Given the description of an element on the screen output the (x, y) to click on. 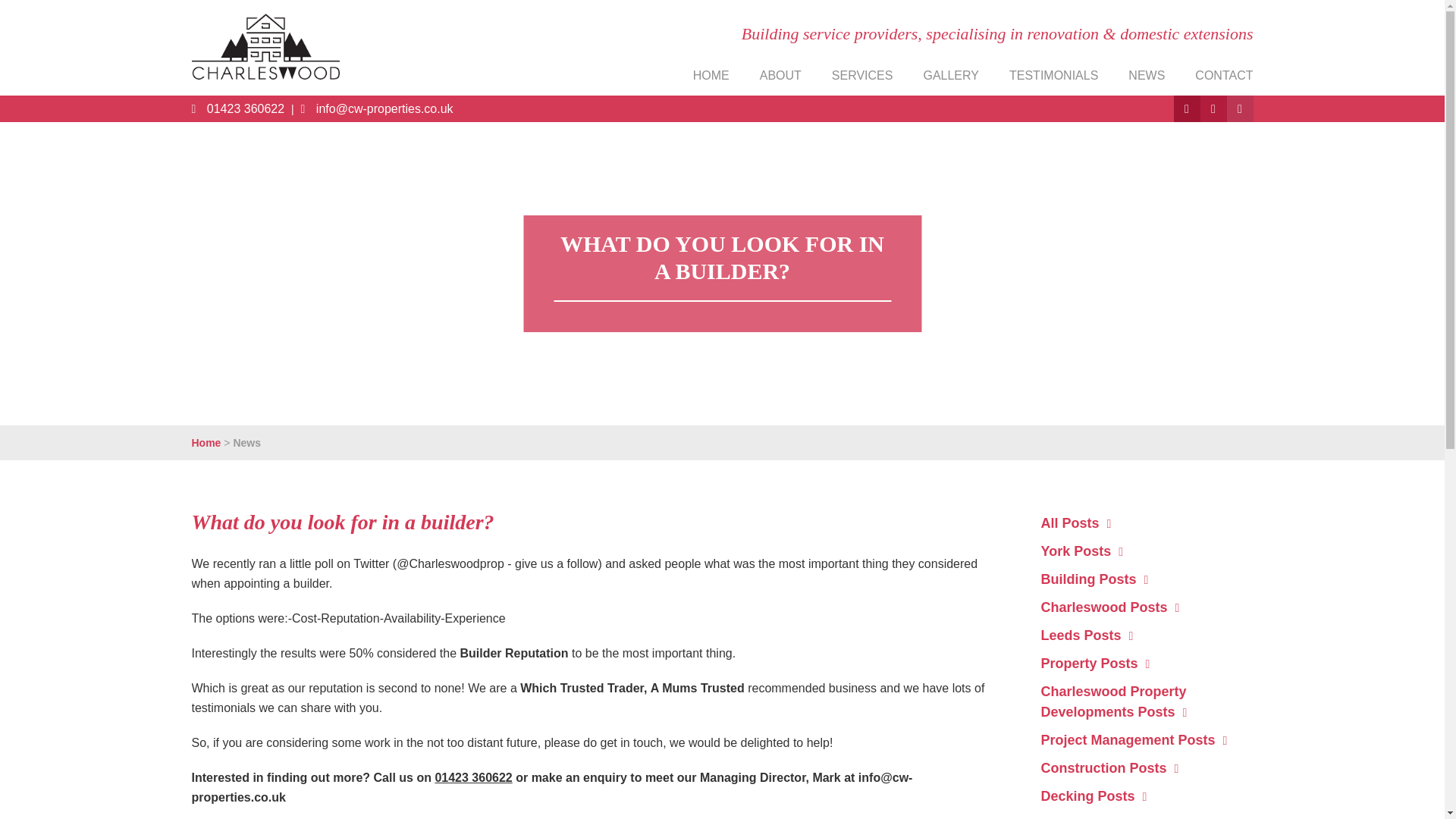
TESTIMONIALS (1053, 74)
Services (862, 74)
Gallery (950, 74)
HOME (711, 74)
01423 360622 (472, 777)
Project Management Posts (1134, 739)
01423 360622 (236, 108)
News (1146, 74)
SERVICES (862, 74)
CONTACT (1223, 74)
